Given the description of an element on the screen output the (x, y) to click on. 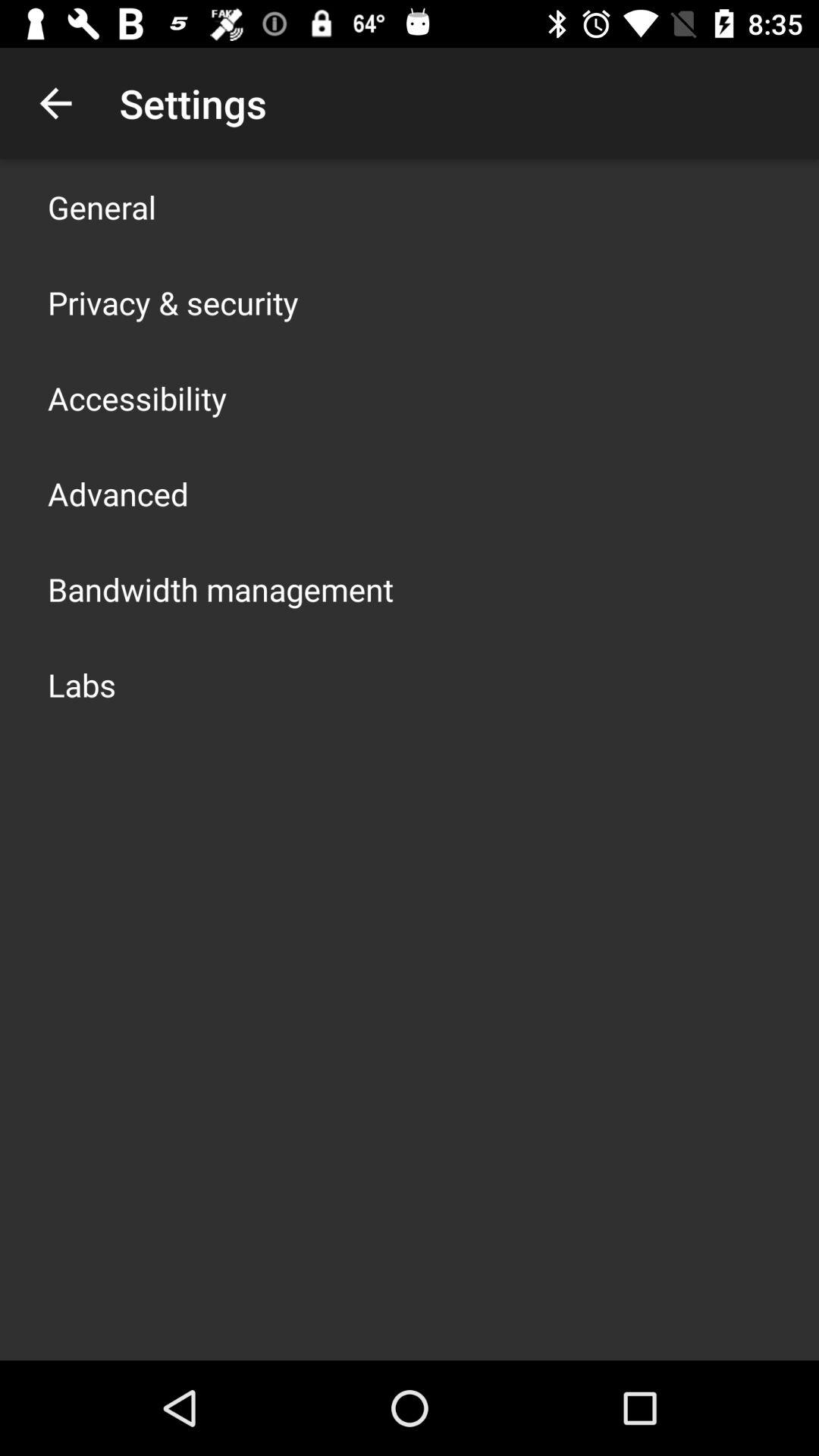
choose the bandwidth management app (220, 588)
